Given the description of an element on the screen output the (x, y) to click on. 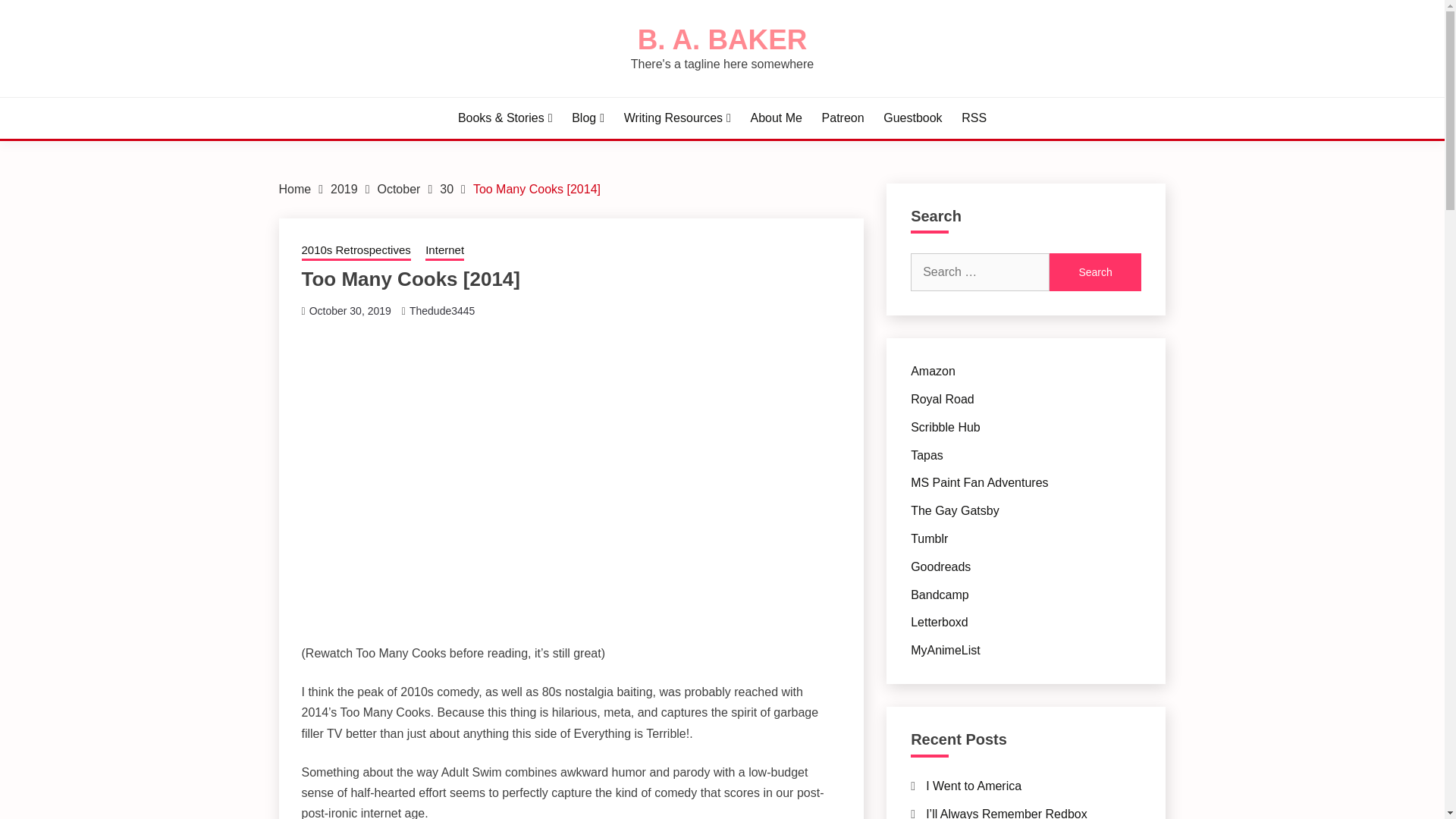
30 (445, 188)
Search (1095, 272)
October (398, 188)
RSS (973, 117)
Thedude3445 (441, 310)
Internet (444, 251)
Writing Resources (677, 117)
2019 (344, 188)
Guestbook (912, 117)
October 30, 2019 (349, 310)
